Given the description of an element on the screen output the (x, y) to click on. 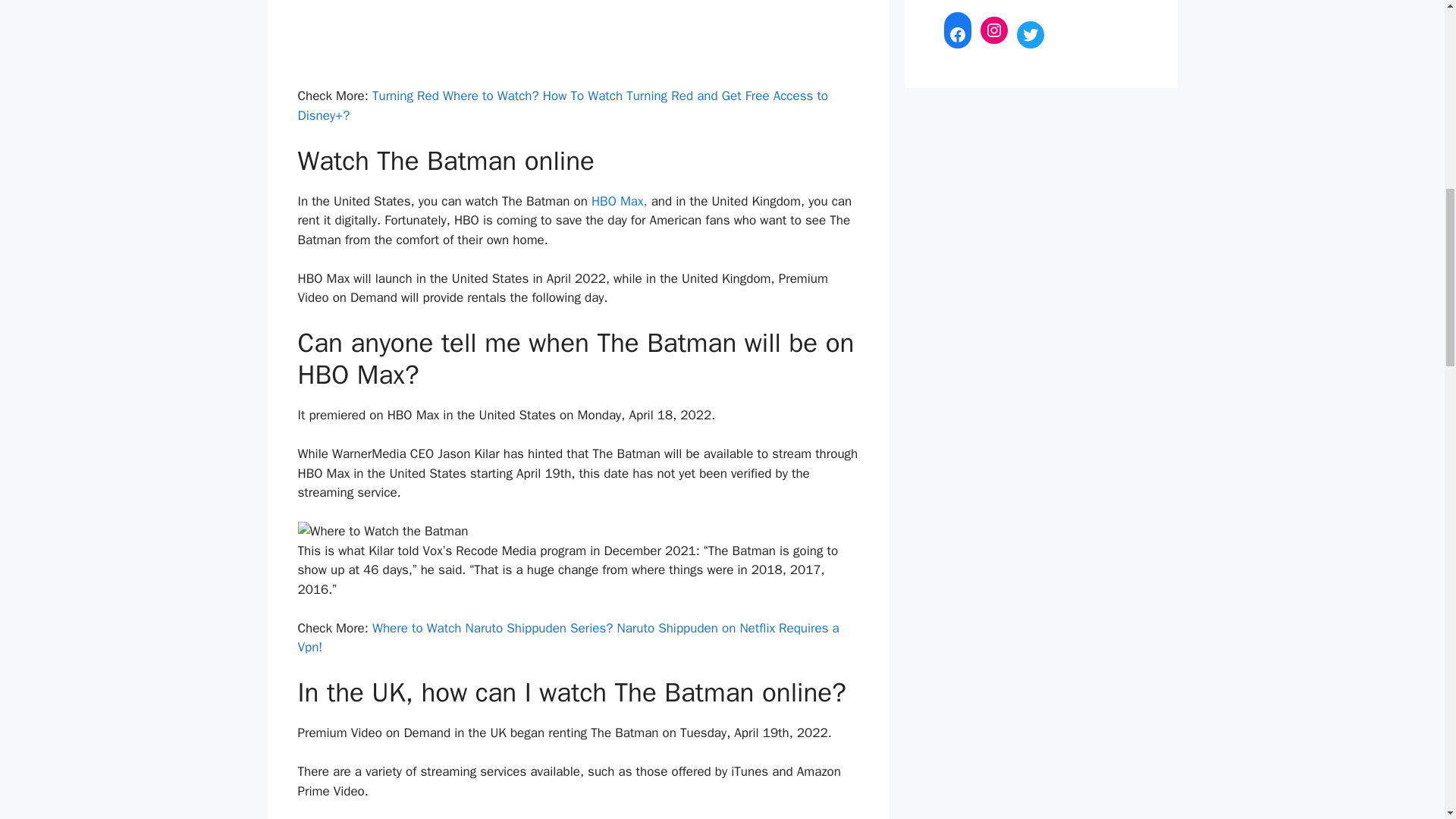
Facebook (957, 34)
Instagram (993, 30)
HBO Max, (620, 201)
